Given the description of an element on the screen output the (x, y) to click on. 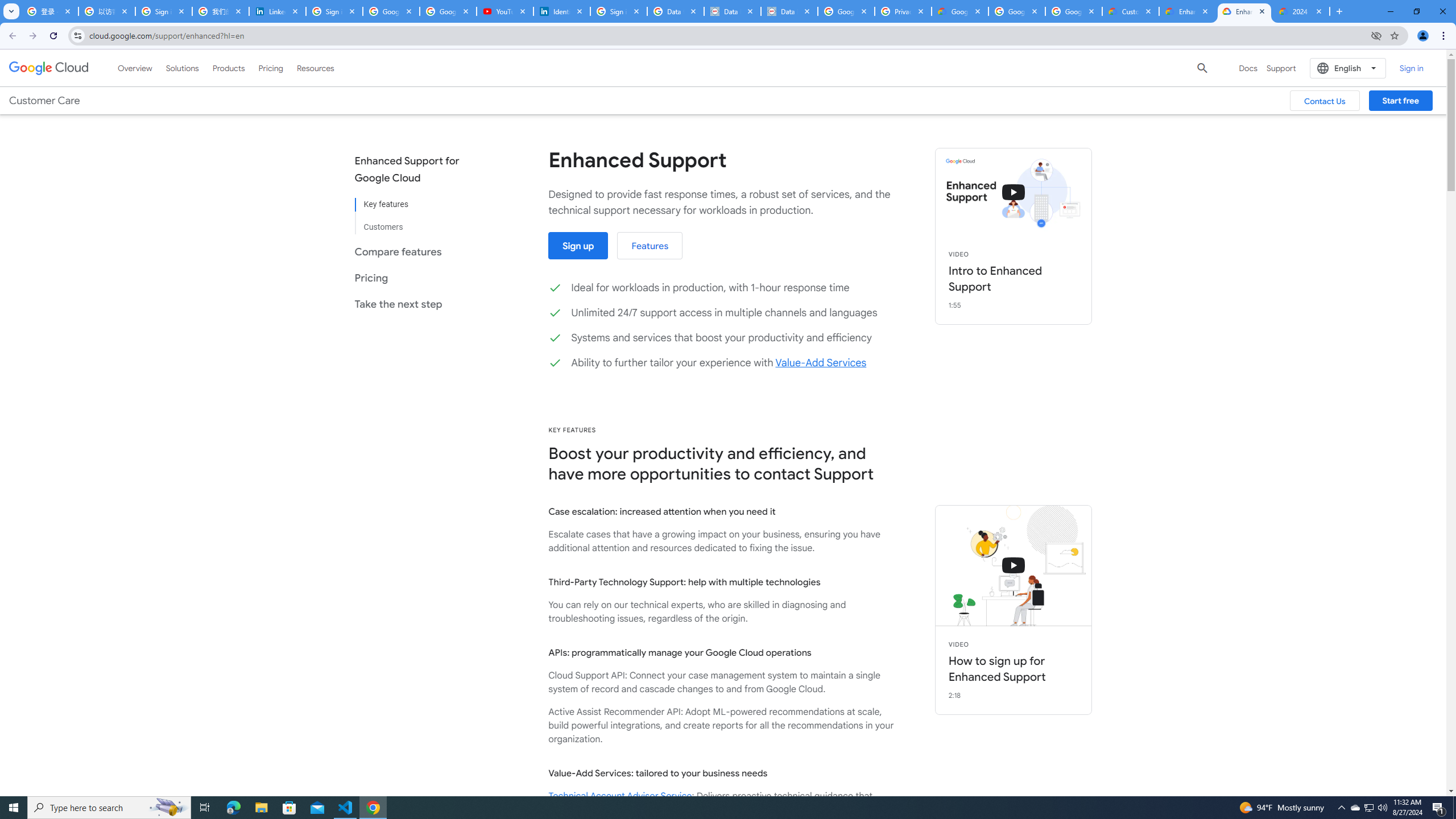
Sign in - Google Accounts (334, 11)
Data Privacy Framework (788, 11)
Enhanced Support | Google Cloud (1187, 11)
Google Cloud Terms Directory | Google Cloud (959, 11)
Products (228, 67)
